Given the description of an element on the screen output the (x, y) to click on. 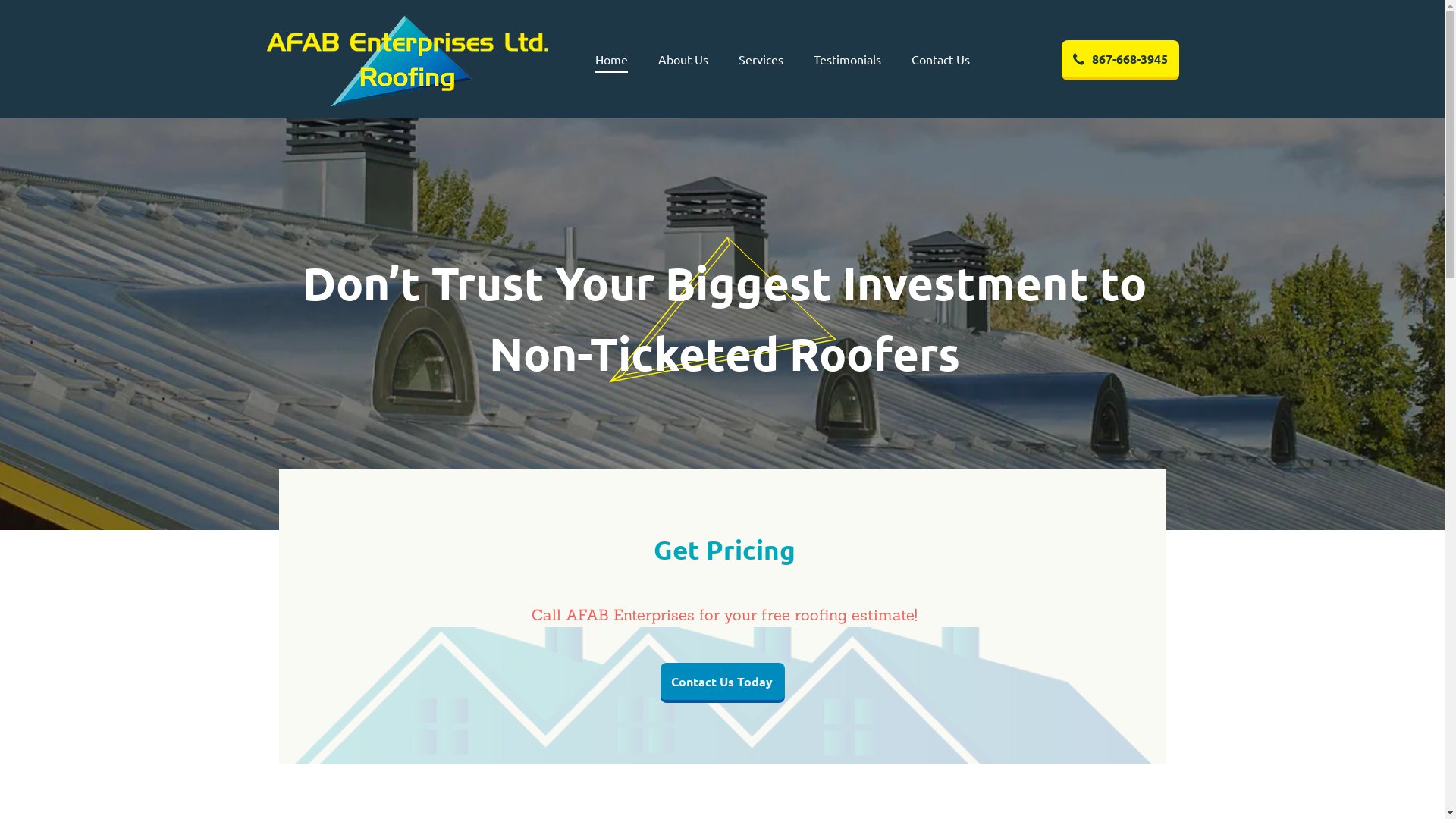
Contact Us Element type: text (940, 60)
Services Element type: text (760, 60)
867-668-3945 Element type: text (1120, 60)
About Us Element type: text (683, 60)
Home Element type: text (610, 60)
Contact Us Today Element type: text (721, 682)
Testimonials Element type: text (846, 60)
